Given the description of an element on the screen output the (x, y) to click on. 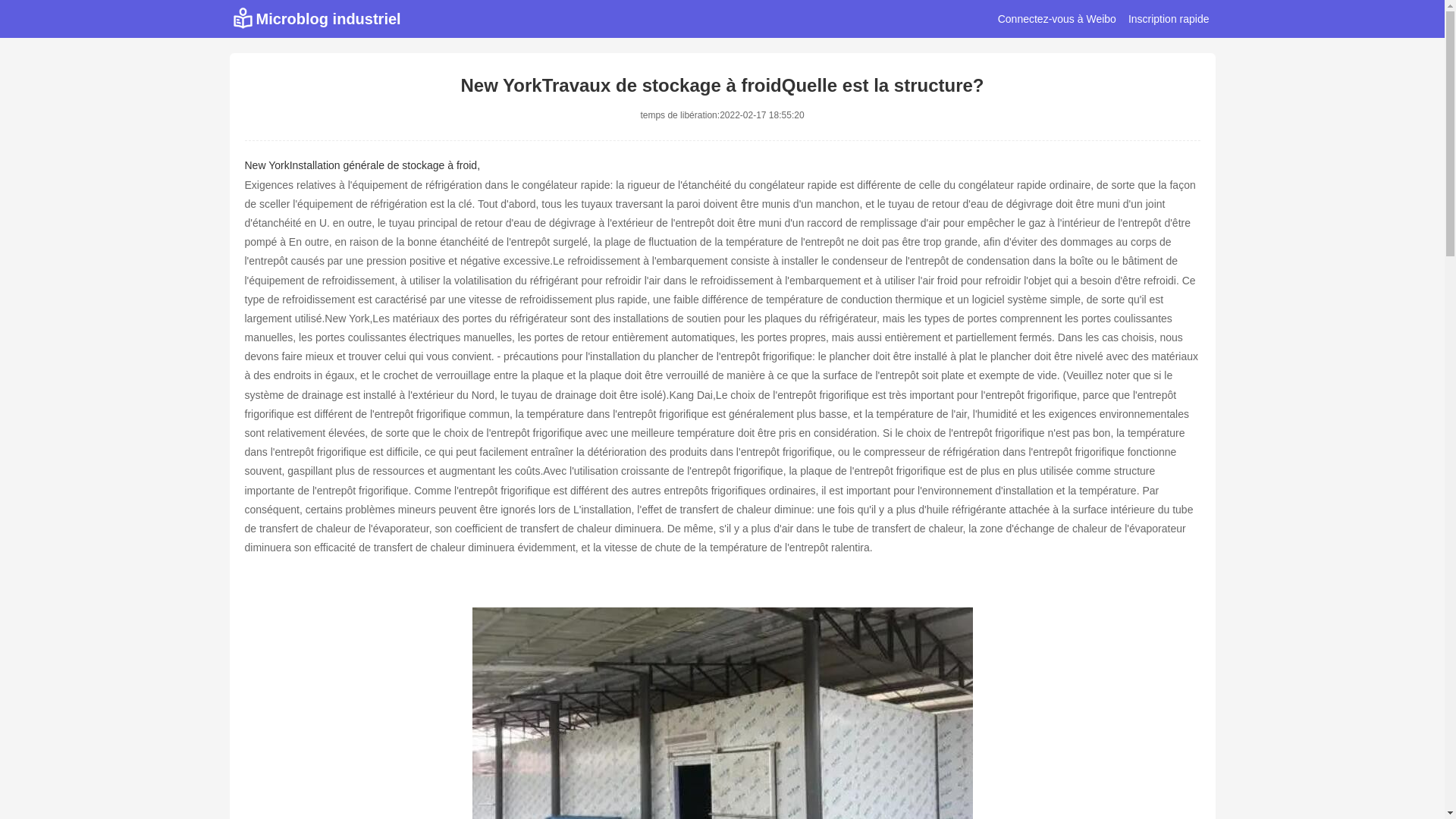
Inscription rapide Element type: text (1168, 18)
Microblog industriel Element type: text (314, 18)
